Given the description of an element on the screen output the (x, y) to click on. 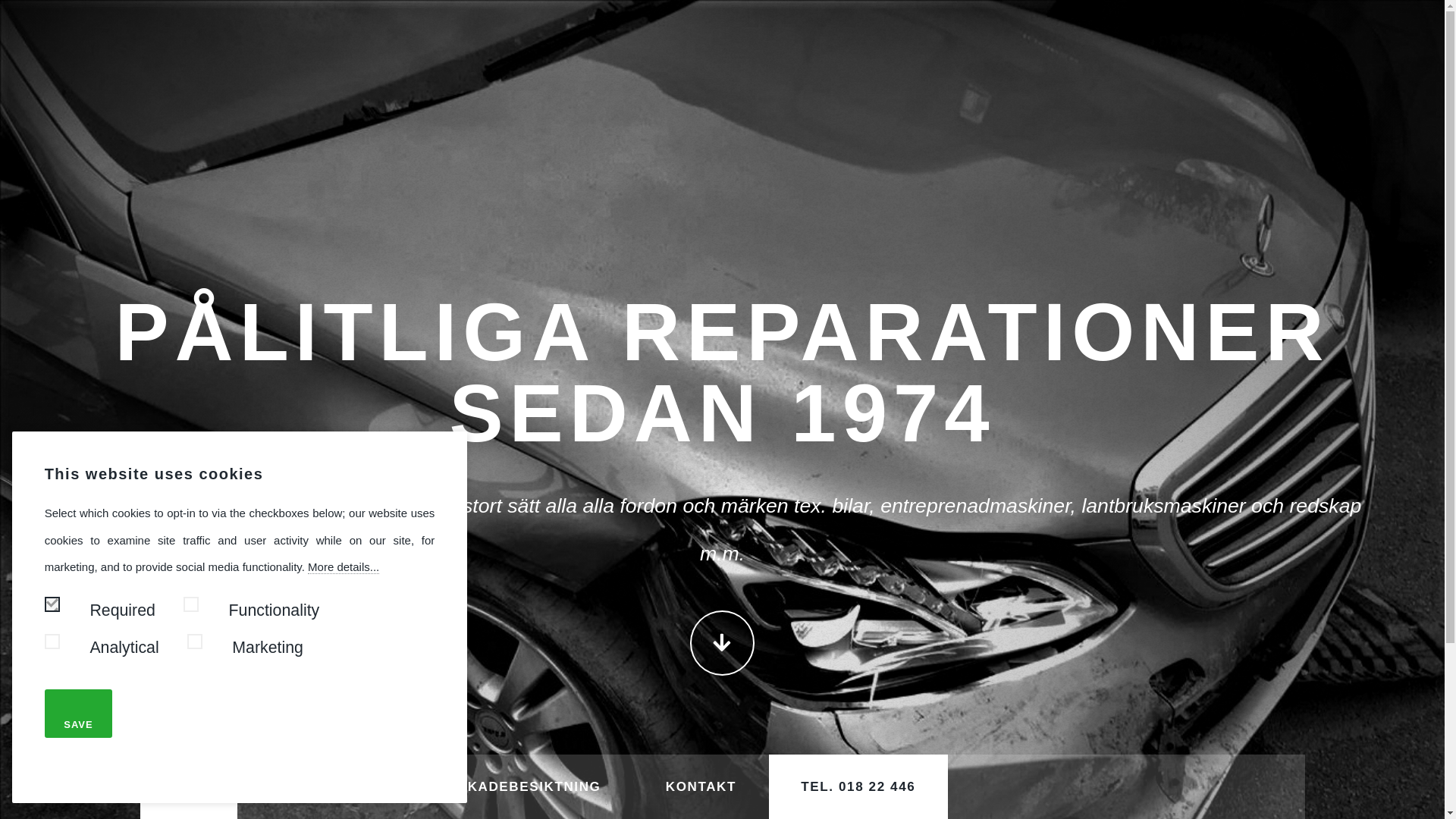
More details... Element type: text (343, 567)
SAVE Element type: text (78, 713)
CONTINUE Element type: text (722, 642)
